Given the description of an element on the screen output the (x, y) to click on. 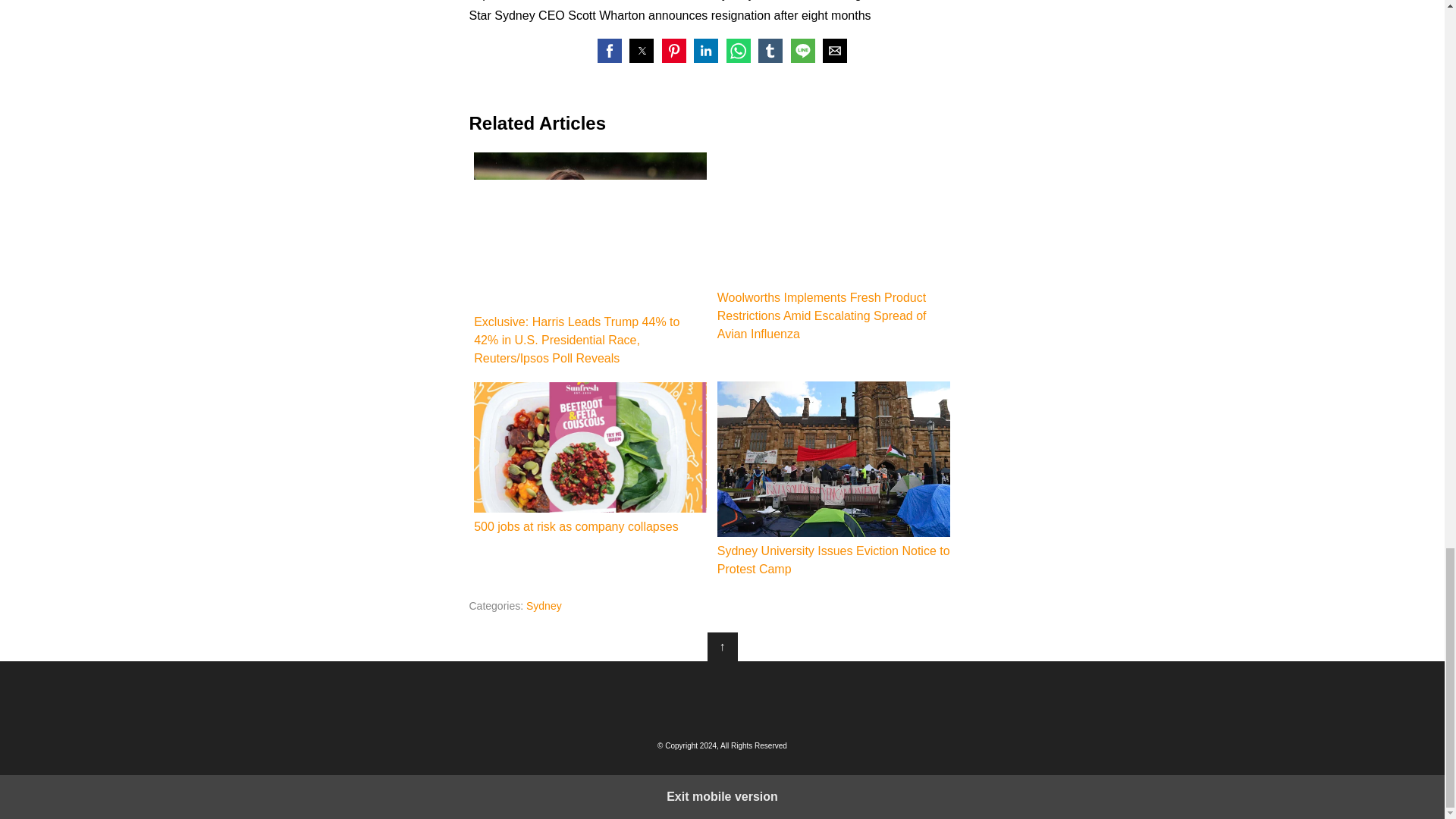
500 jobs at risk as company collapses (590, 458)
Sydney University Issues Eviction Notice to Protest Camp (833, 459)
Sydneynewstoday.com (721, 698)
500 jobs at risk as company collapses (590, 446)
Sydney (543, 605)
Sydney University Issues Eviction Notice to Protest Camp (833, 479)
